Given the description of an element on the screen output the (x, y) to click on. 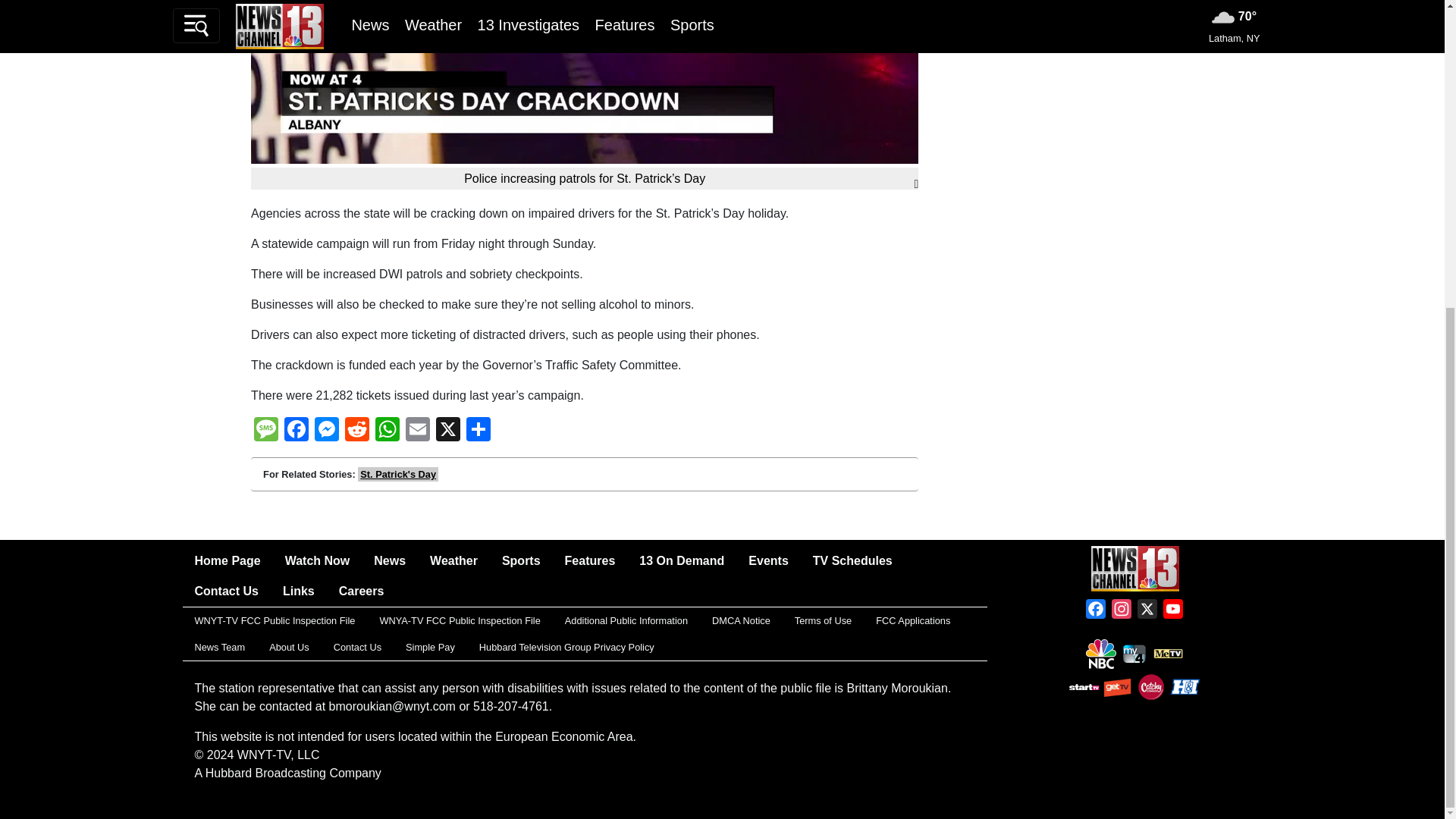
Message (265, 430)
Play Video (585, 1)
